Given the description of an element on the screen output the (x, y) to click on. 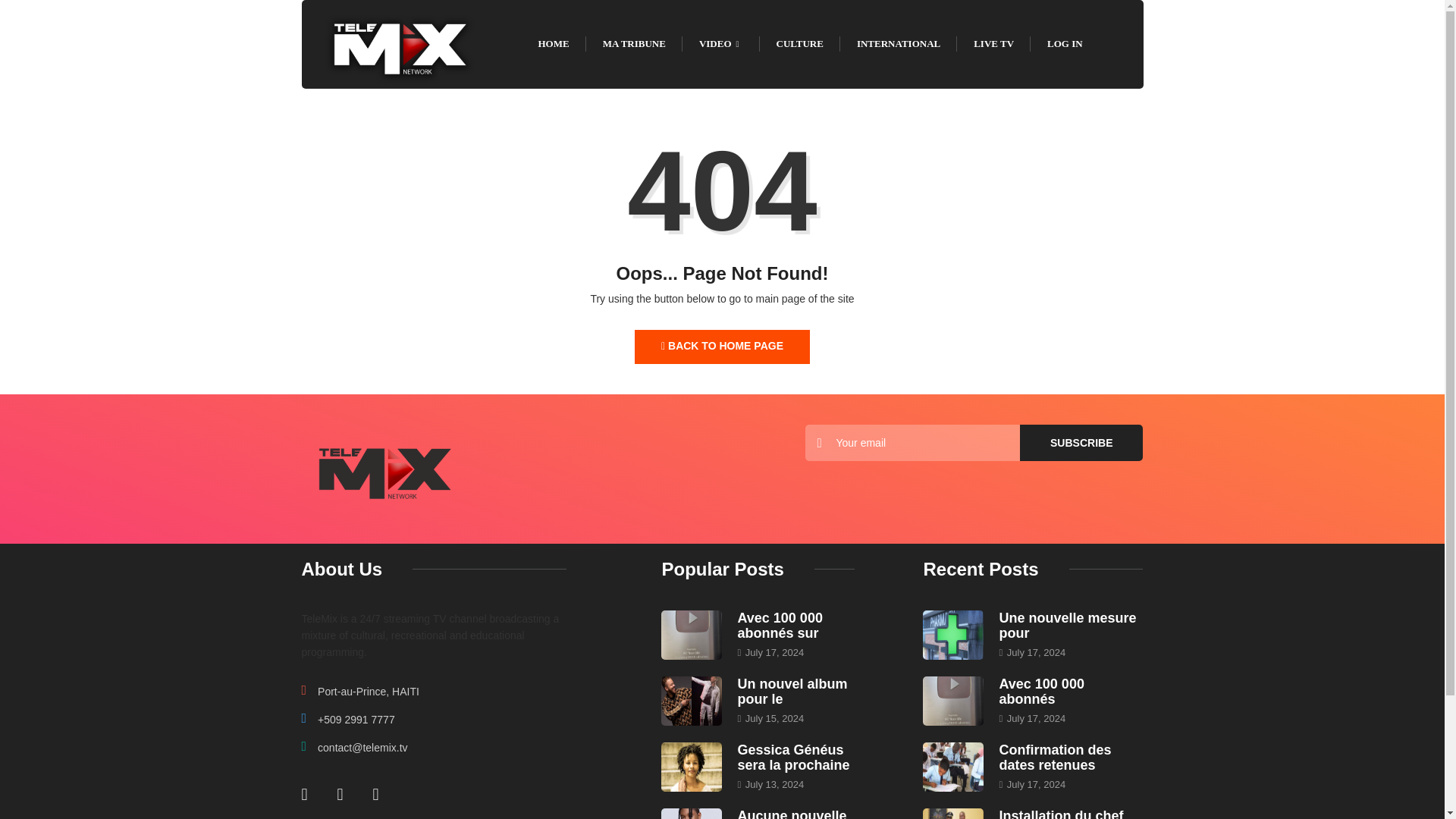
BACK TO HOME PAGE (721, 346)
Subscribe (1081, 443)
CULTURE (800, 43)
INTERNATIONAL (898, 43)
VIDEO (721, 43)
MA TRIBUNE (634, 43)
LOG IN (1064, 43)
HOME (553, 43)
Subscribe (1081, 443)
Un nouvel album pour le (791, 691)
LIVE TV (993, 43)
Un nouvel album pour le duo DroXYani (691, 700)
Un nouvel album pour le duo DroXYani (791, 691)
